Given the description of an element on the screen output the (x, y) to click on. 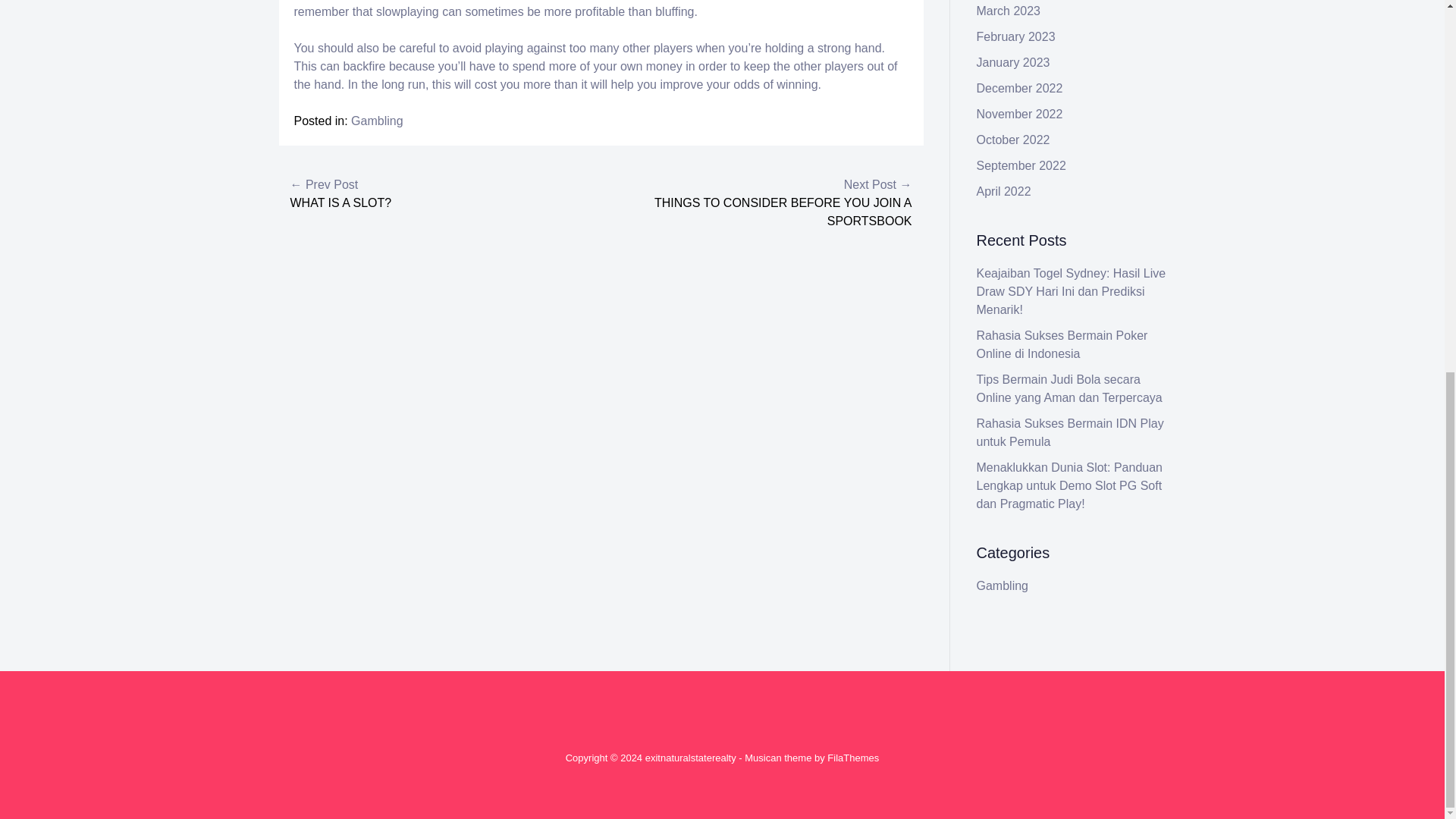
February 2023 (1015, 36)
Rahasia Sukses Bermain Poker Online di Indonesia (1062, 344)
September 2022 (1020, 164)
Gambling (376, 120)
exitnaturalstaterealty (690, 757)
March 2023 (1008, 10)
November 2022 (1019, 113)
Rahasia Sukses Bermain IDN Play untuk Pemula (1069, 431)
October 2022 (1012, 139)
